Given the description of an element on the screen output the (x, y) to click on. 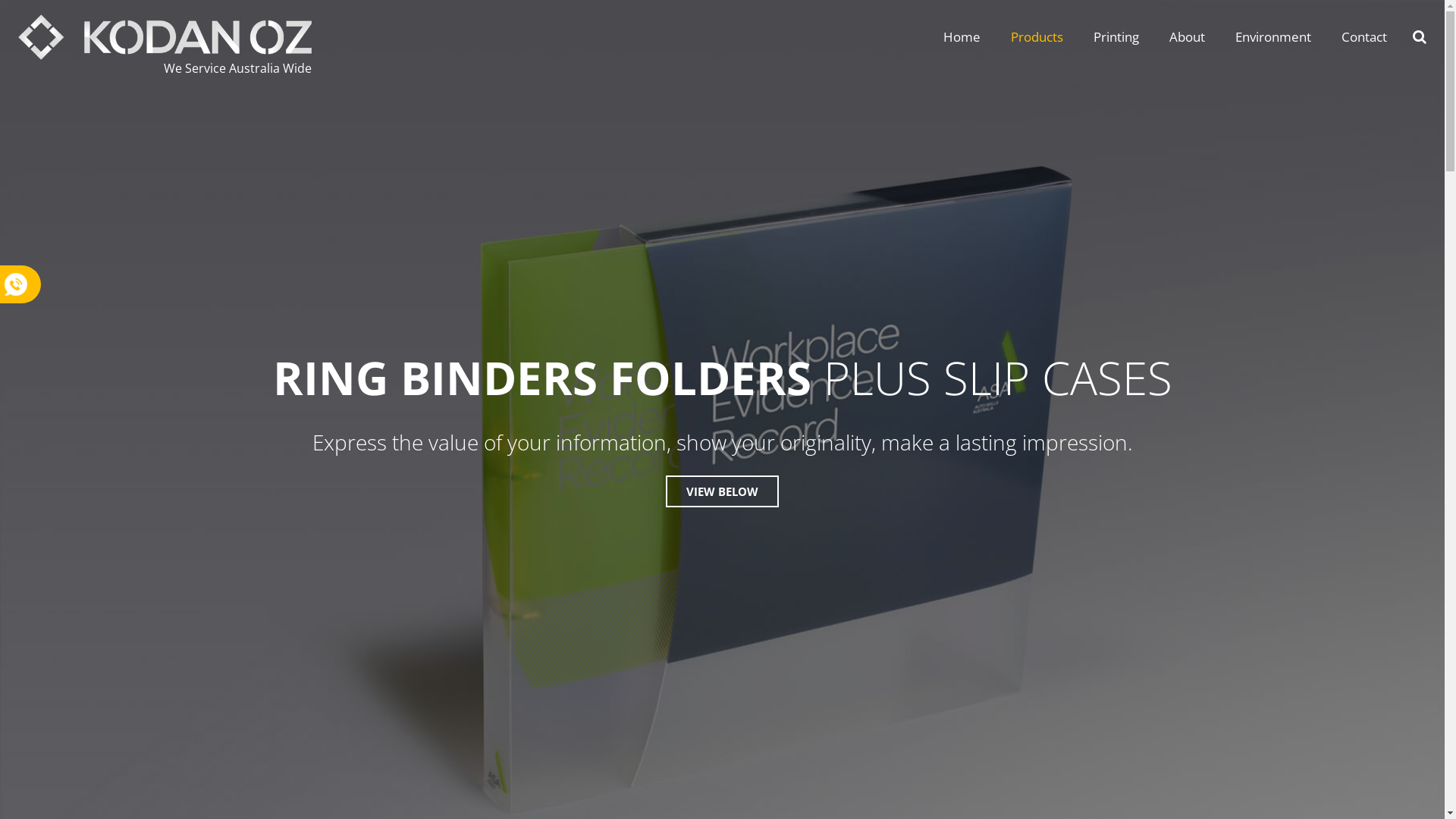
Products Element type: text (1036, 37)
About Element type: text (1187, 37)
Environment Element type: text (1273, 37)
Contact Element type: text (1364, 37)
Home Element type: text (961, 37)
VIEW BELOW Element type: text (721, 491)
Printing Element type: text (1116, 37)
